Given the description of an element on the screen output the (x, y) to click on. 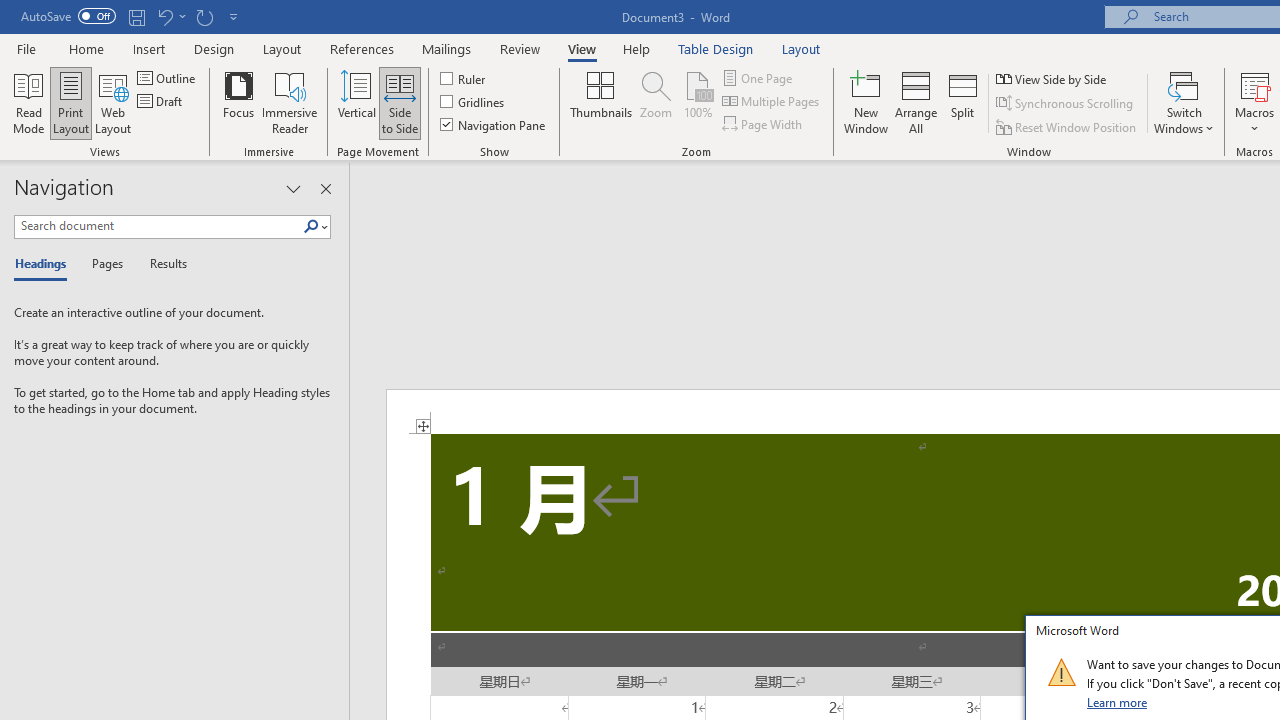
View Macros (1254, 84)
Learn more (1118, 702)
Reset Window Position (1068, 126)
Outline (168, 78)
View Side by Side (1053, 78)
